Given the description of an element on the screen output the (x, y) to click on. 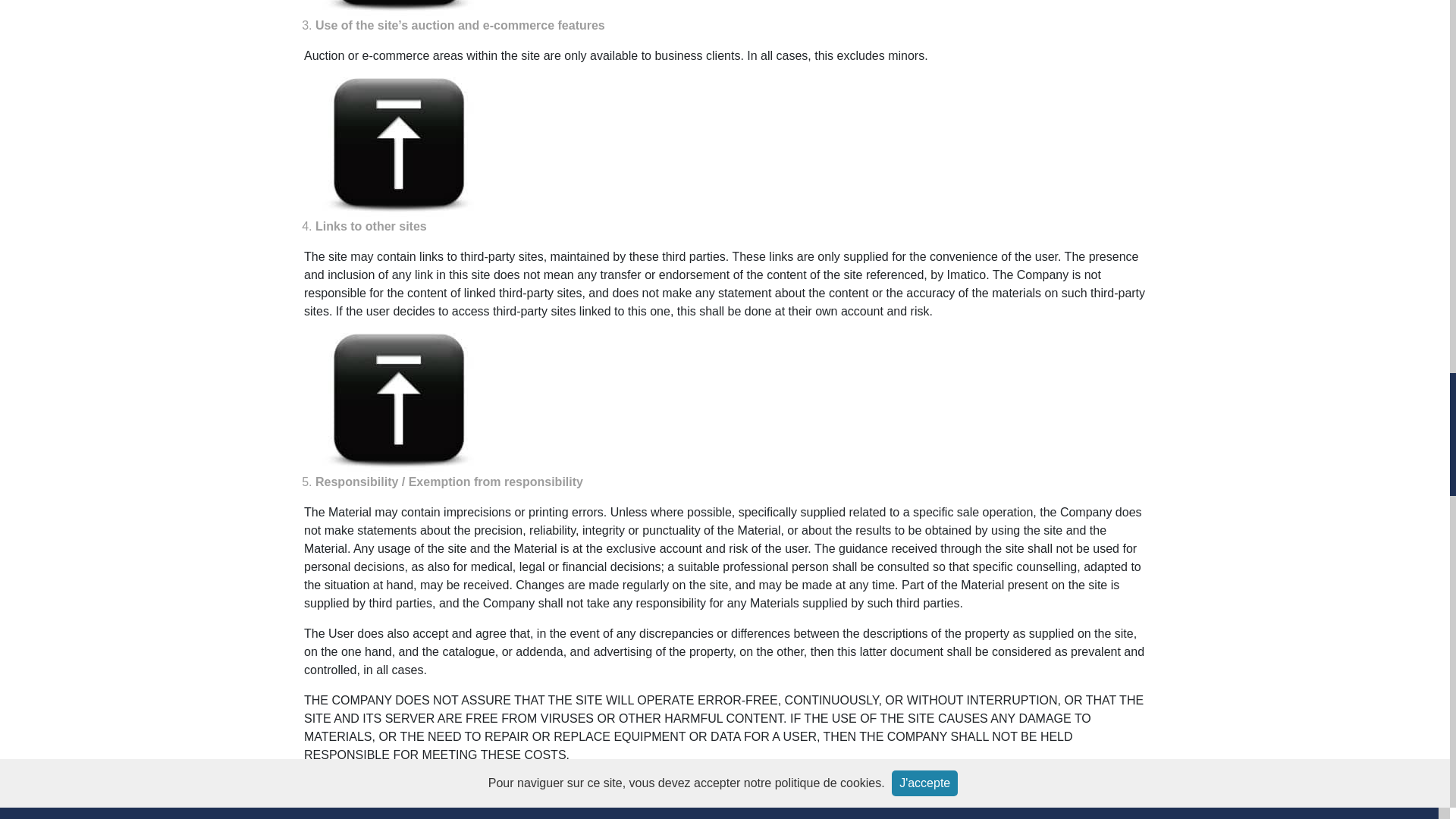
Back to the summary (398, 402)
Back to the summary (398, 146)
Back to the summary (398, 8)
